Given the description of an element on the screen output the (x, y) to click on. 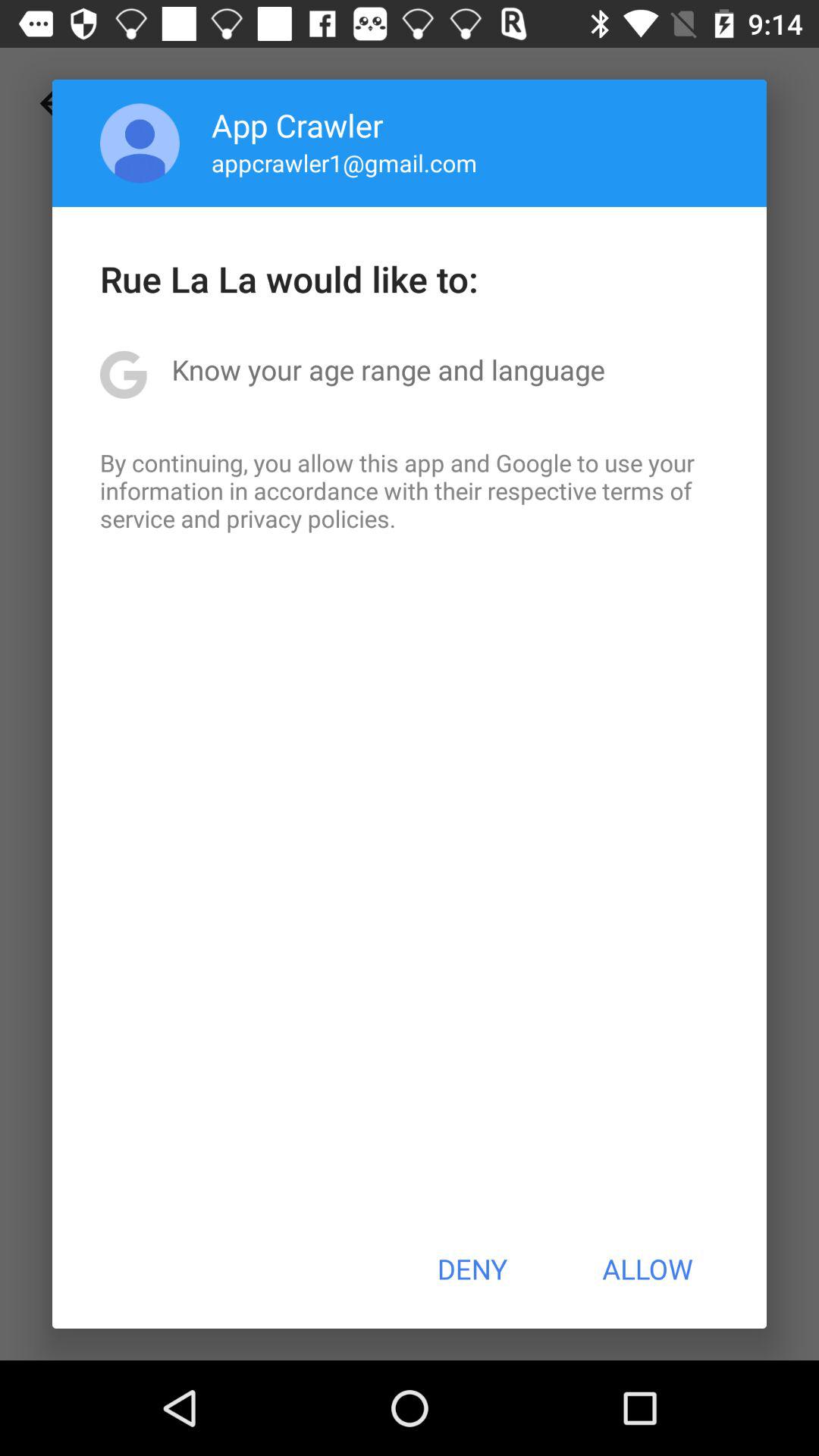
flip to deny item (471, 1268)
